Given the description of an element on the screen output the (x, y) to click on. 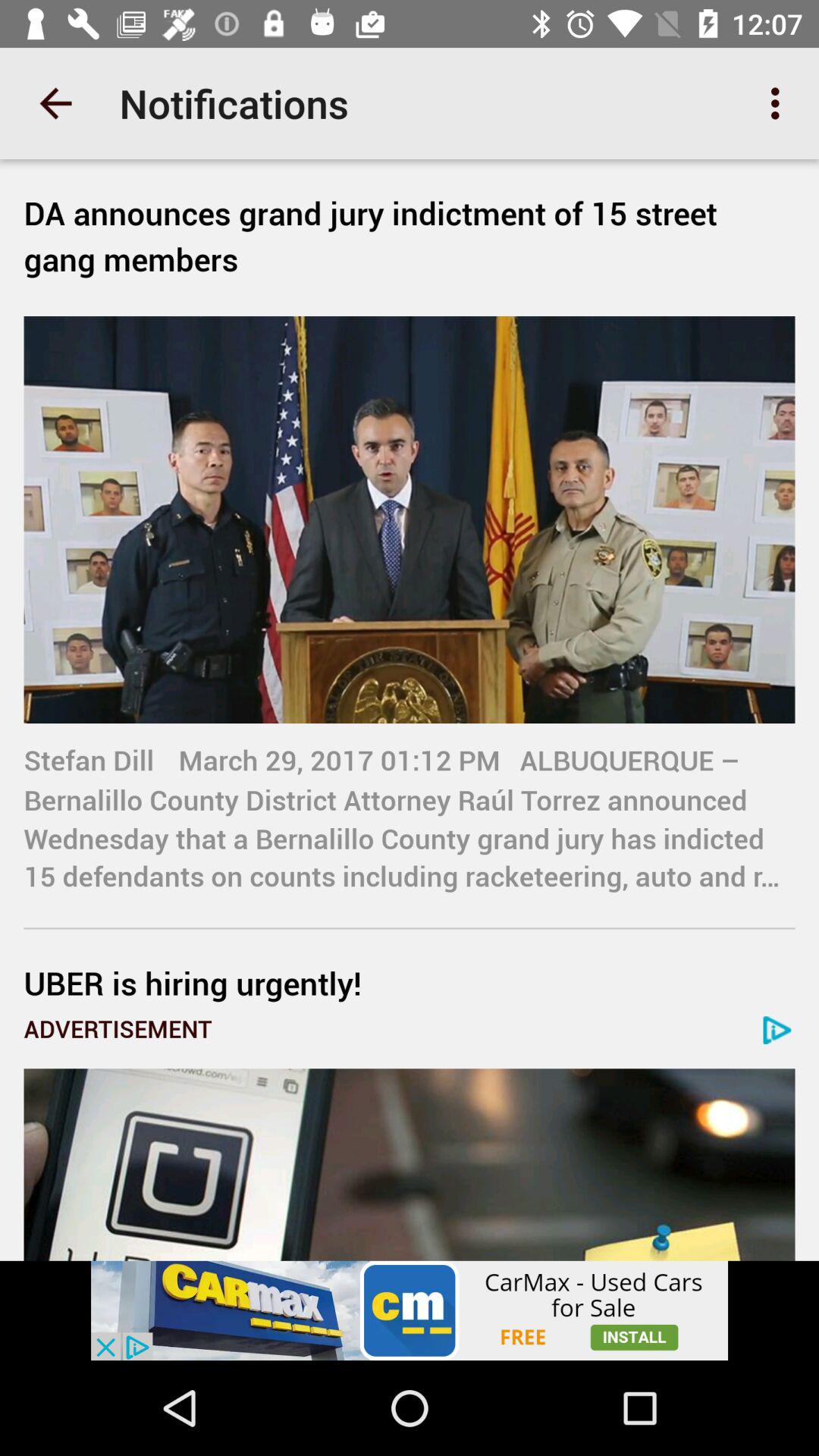
turn off icon below the stefan dill 	 item (409, 982)
